Given the description of an element on the screen output the (x, y) to click on. 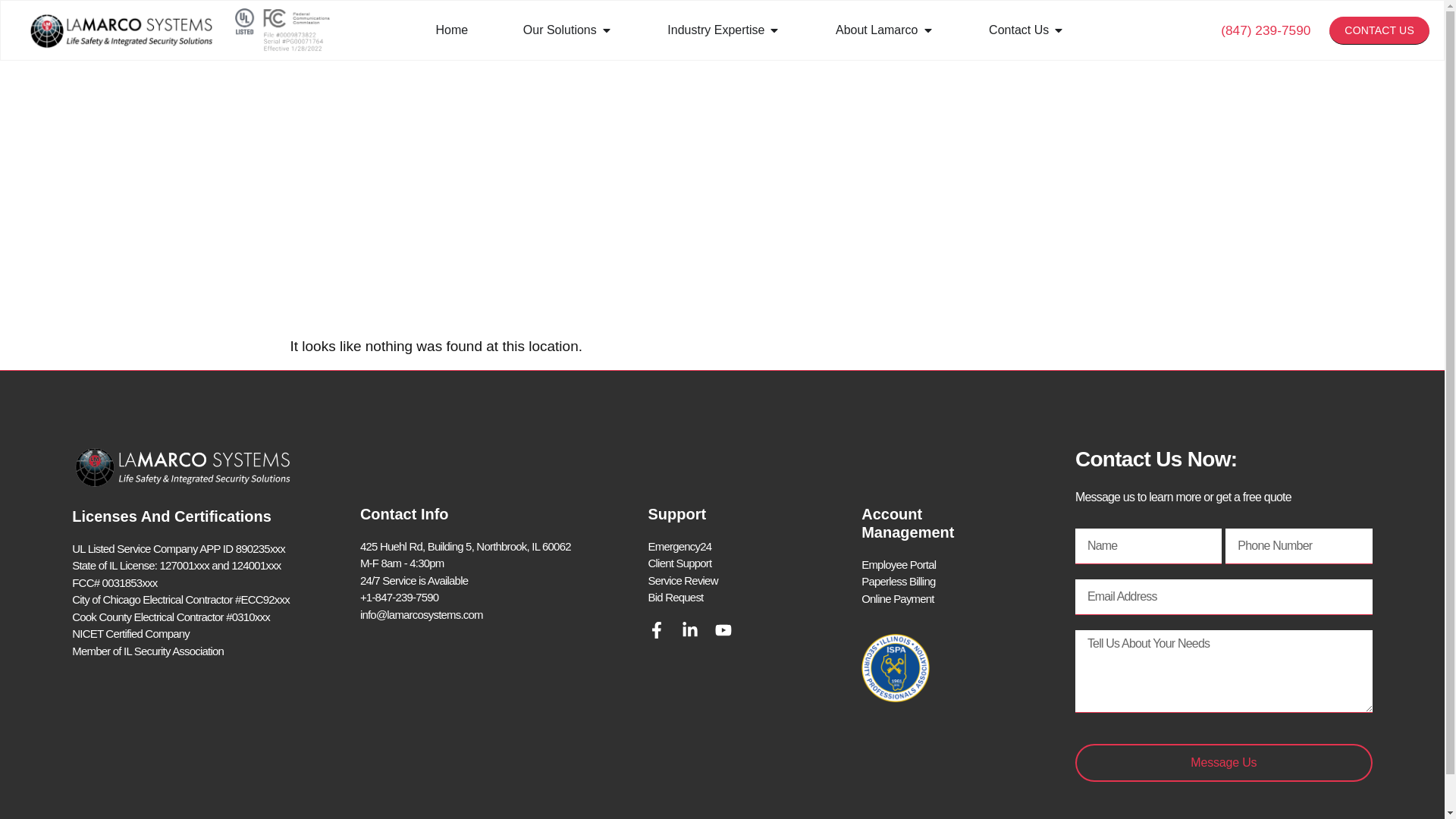
Home (451, 30)
Our Solutions (559, 30)
Contact Us (1018, 30)
Industry Expertise (715, 30)
About Lamarco (876, 30)
